Given the description of an element on the screen output the (x, y) to click on. 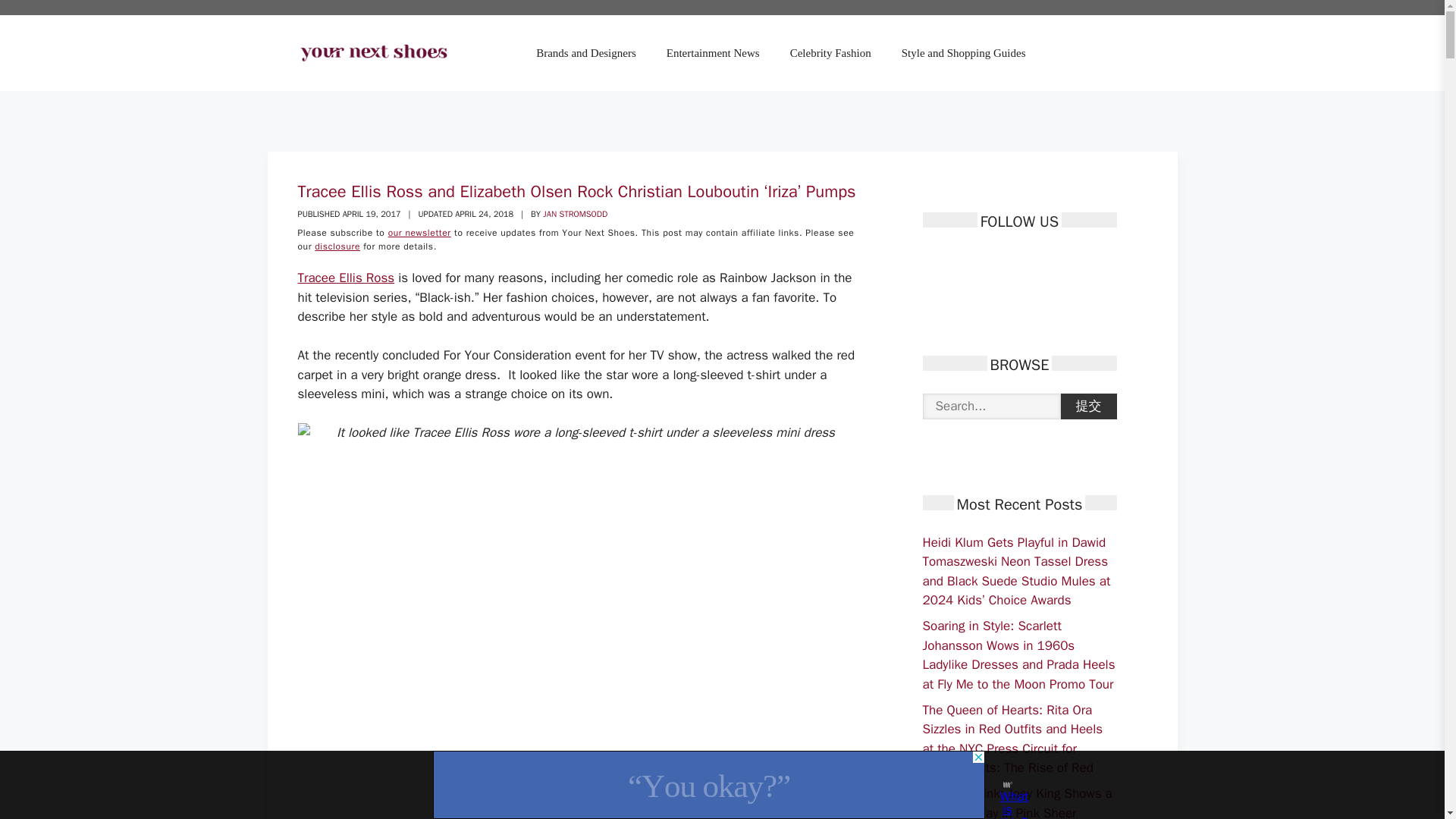
Facebook (932, 261)
Pinterest (986, 261)
3rd party ad content (708, 785)
our newsletter (419, 232)
Instagram (1014, 261)
Celebrity Fashion (830, 53)
disclosure (336, 246)
Tracee Ellis Ross (345, 277)
Brands and Designers (585, 53)
JAN STROMSODD (575, 213)
Entertainment News (712, 53)
Style and Shopping Guides (963, 53)
Twitter (960, 261)
